Given the description of an element on the screen output the (x, y) to click on. 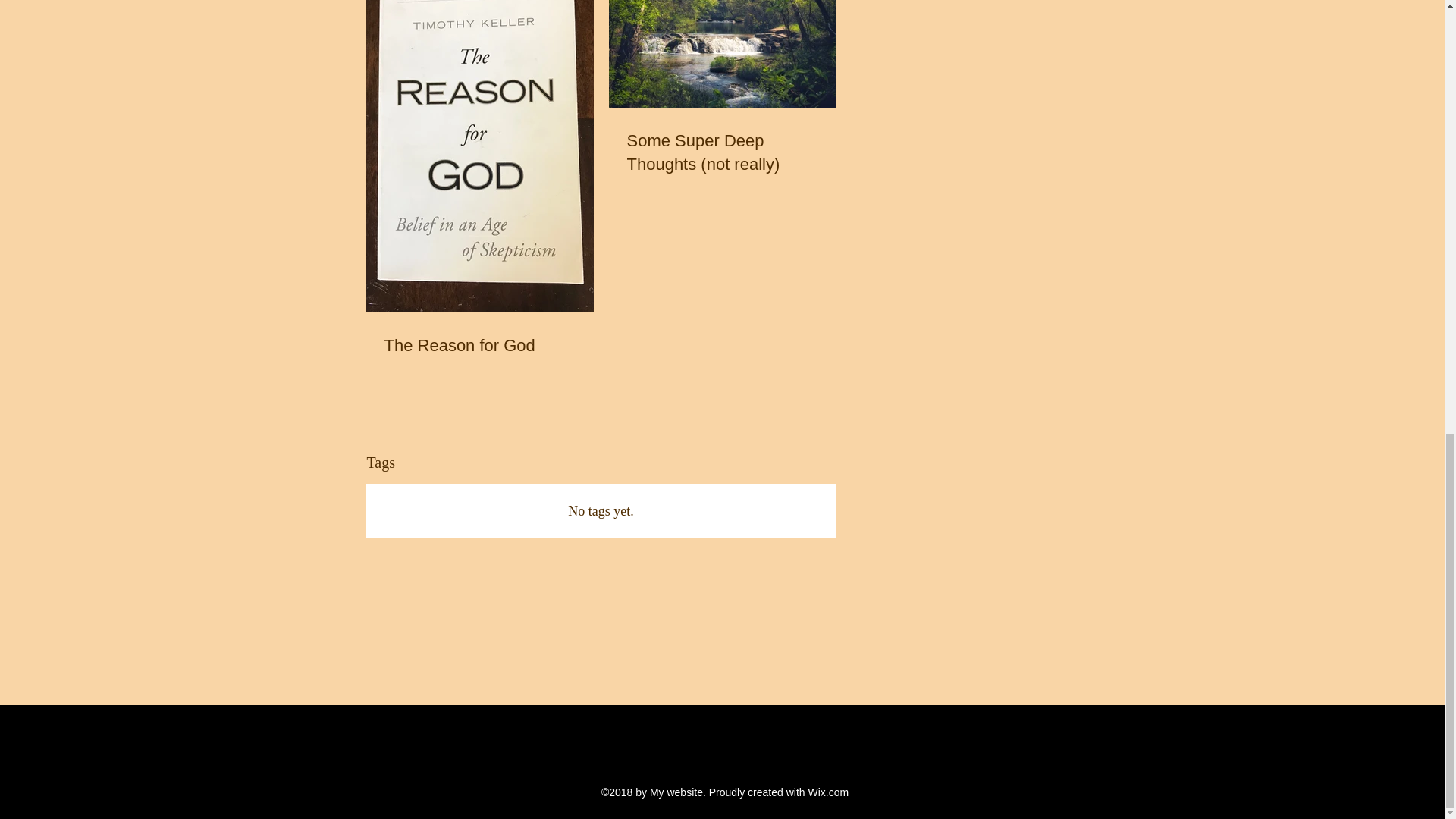
The Reason for God (479, 345)
